Given the description of an element on the screen output the (x, y) to click on. 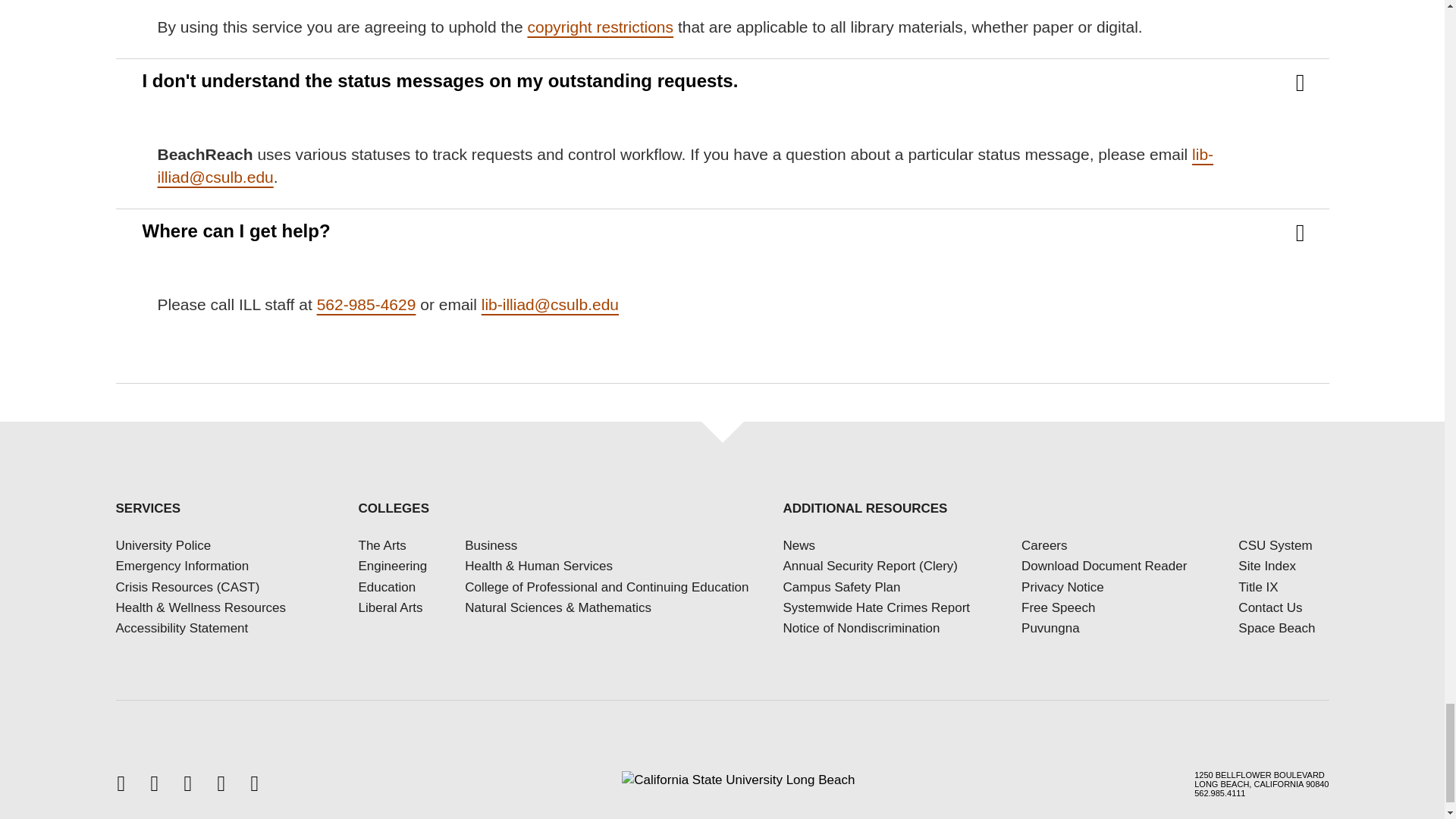
Library Copyright Policy (599, 27)
Title IX (1258, 586)
